Given the description of an element on the screen output the (x, y) to click on. 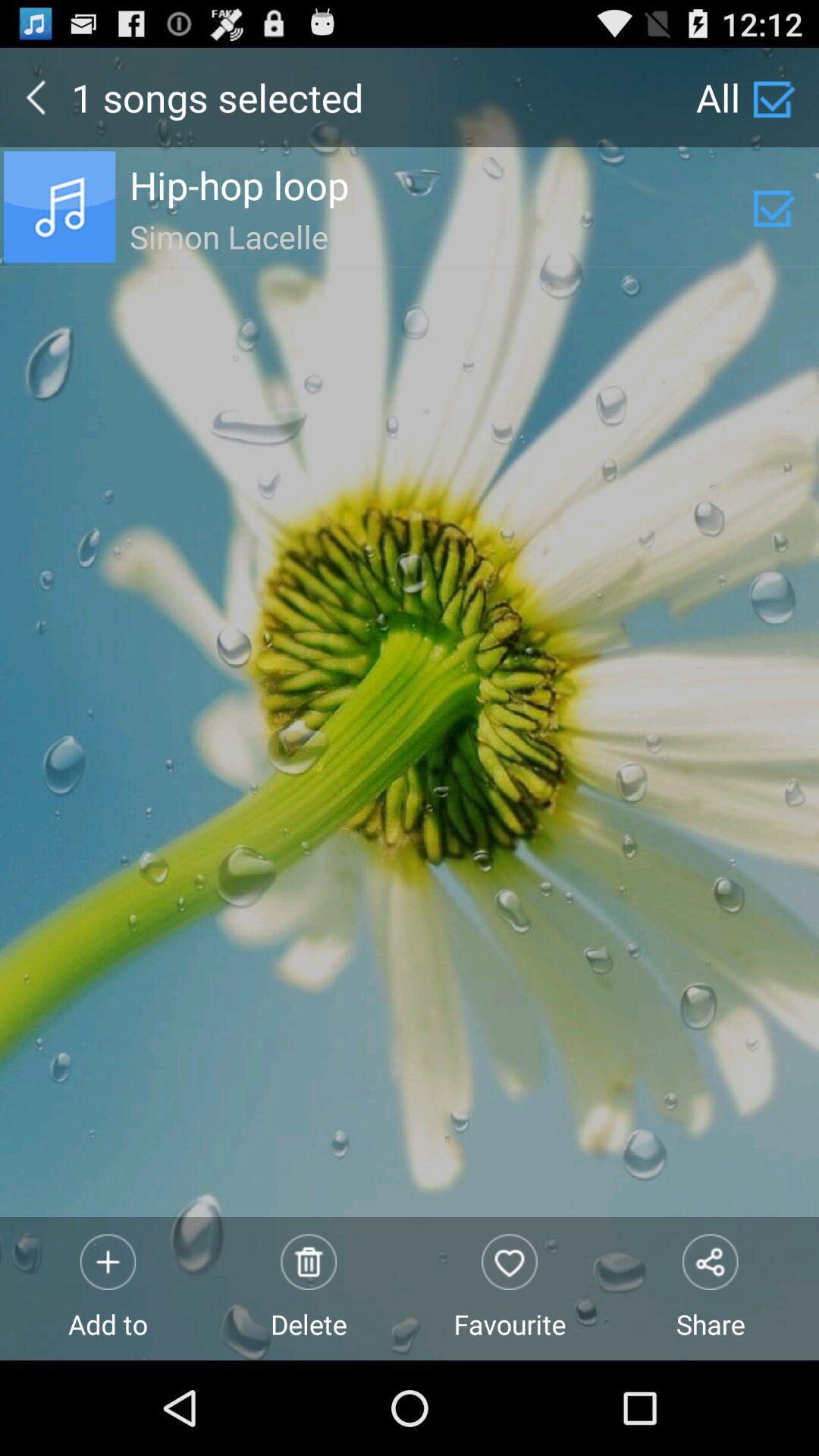
open simon lacelle item (440, 234)
